Given the description of an element on the screen output the (x, y) to click on. 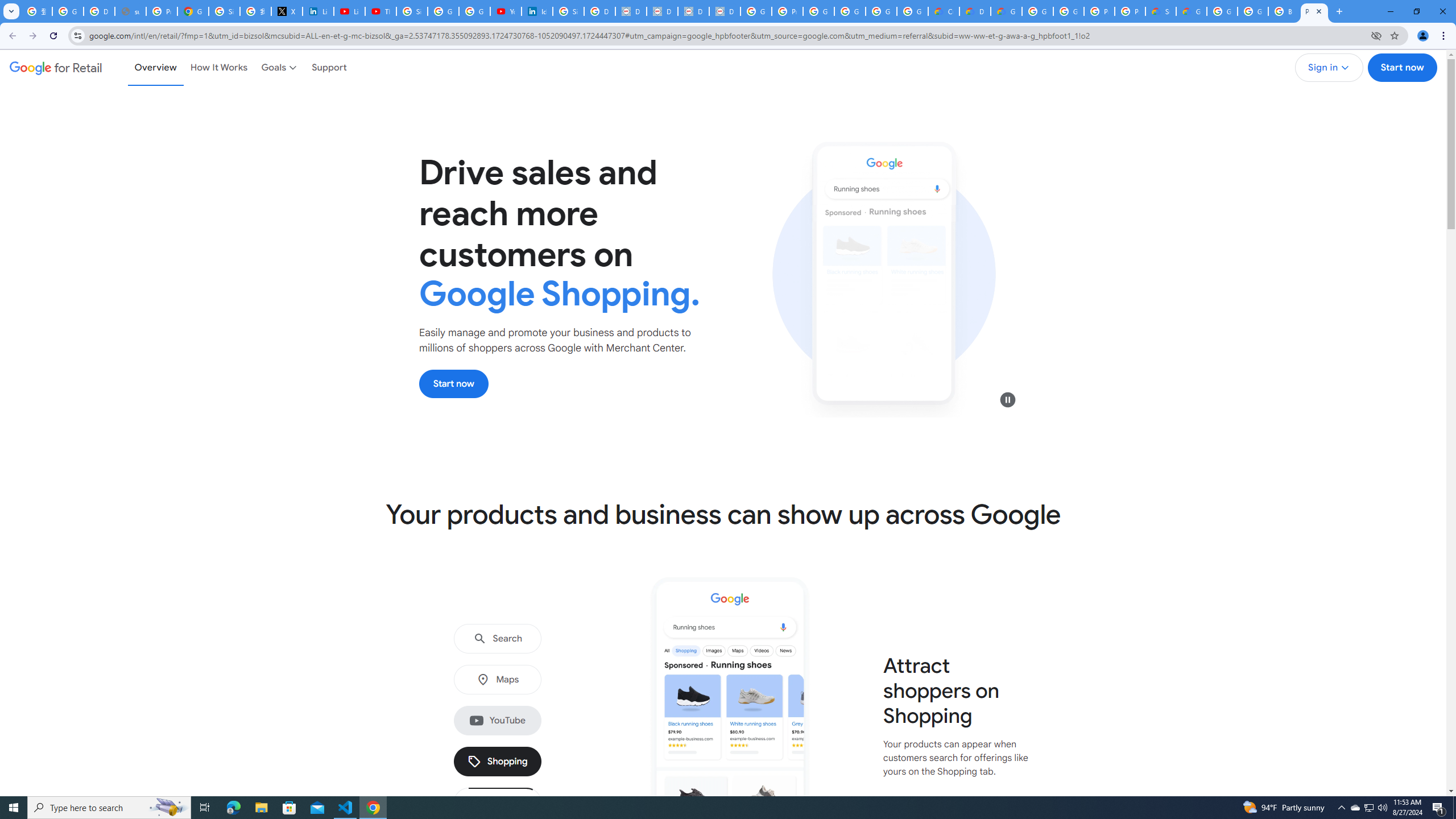
Goals (279, 67)
Support Hub | Google Cloud (1160, 11)
How It Works (218, 67)
Start now (454, 383)
Goals (279, 67)
YouTube (497, 720)
Google Cloud Platform (1068, 11)
Sign in - Google Accounts (568, 11)
